Given the description of an element on the screen output the (x, y) to click on. 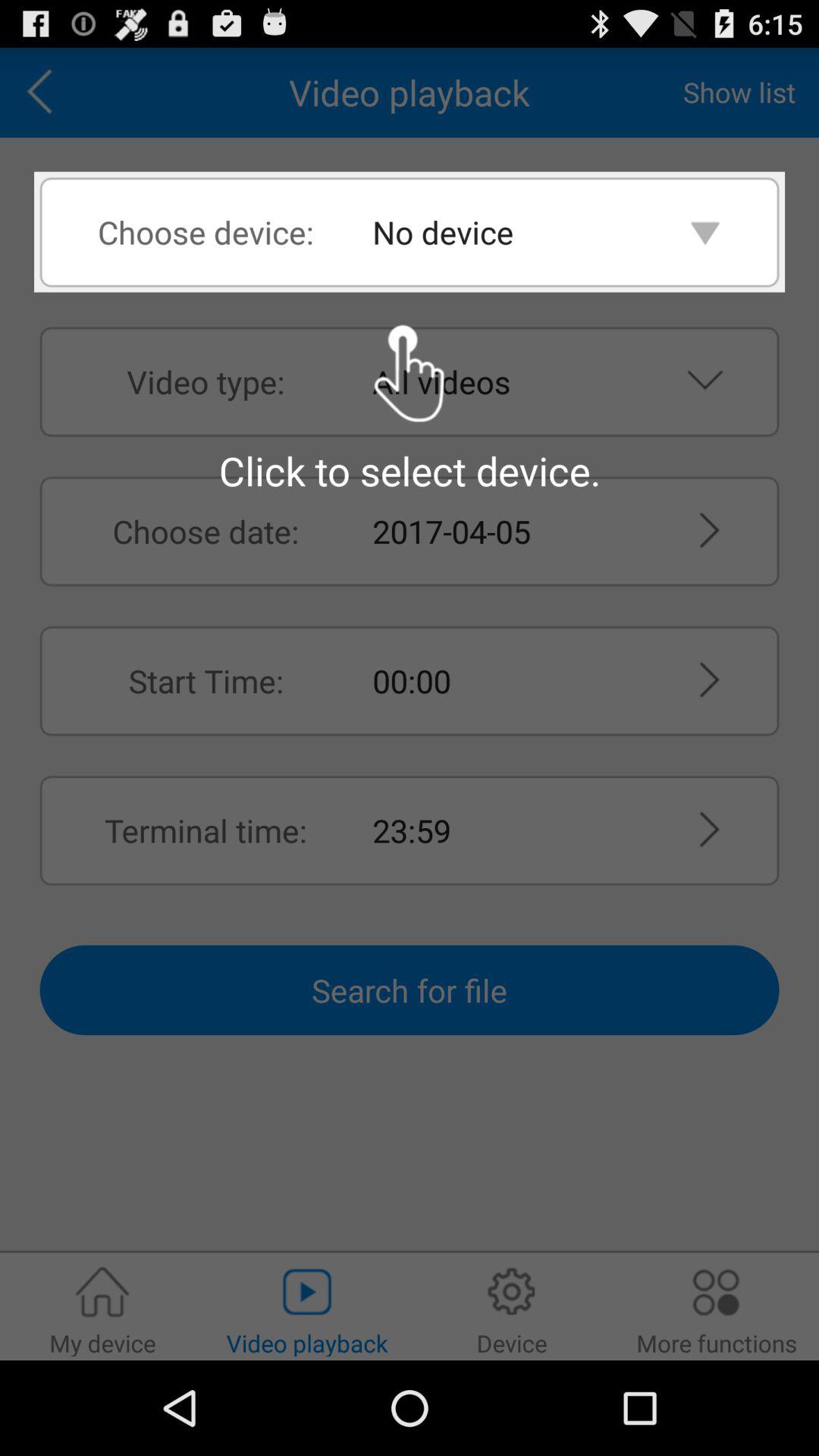
press search for file item (409, 990)
